Given the description of an element on the screen output the (x, y) to click on. 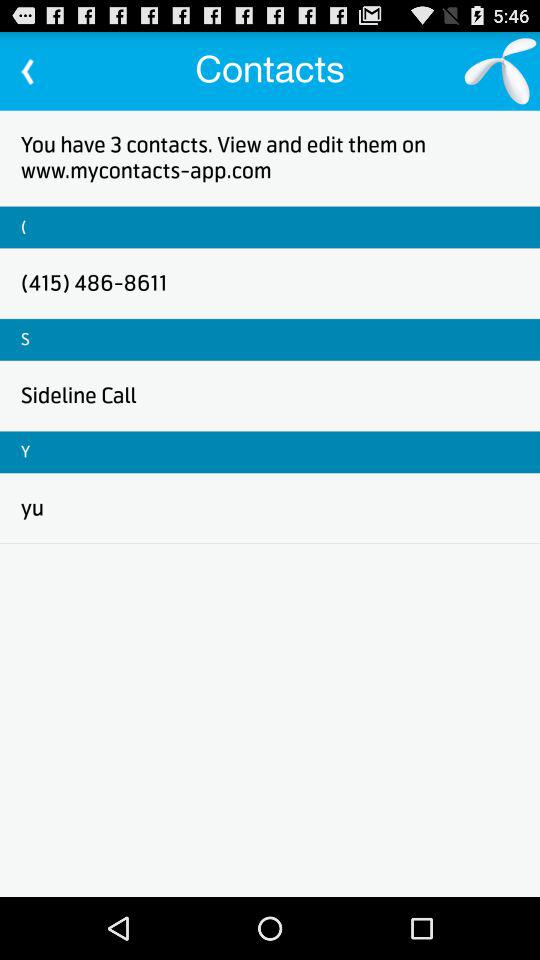
turn off the (415) 486-8611 item (94, 282)
